Given the description of an element on the screen output the (x, y) to click on. 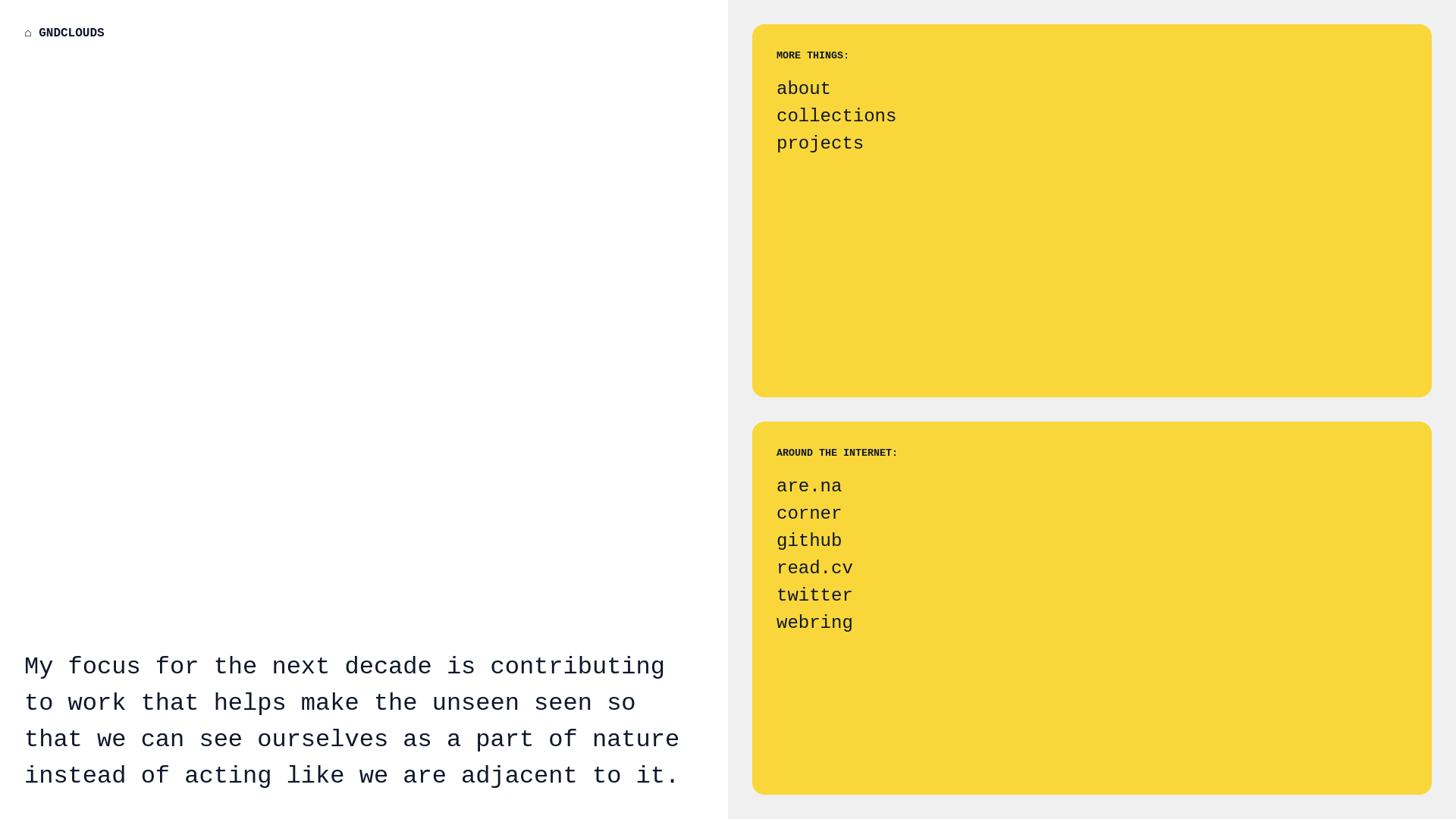
are.na Element type: text (1091, 486)
corner Element type: text (1091, 513)
projects Element type: text (1091, 143)
github Element type: text (1091, 541)
twitter Element type: text (1091, 595)
webring Element type: text (1091, 623)
about Element type: text (1091, 89)
collections Element type: text (1091, 116)
read.cv Element type: text (1091, 568)
